Given the description of an element on the screen output the (x, y) to click on. 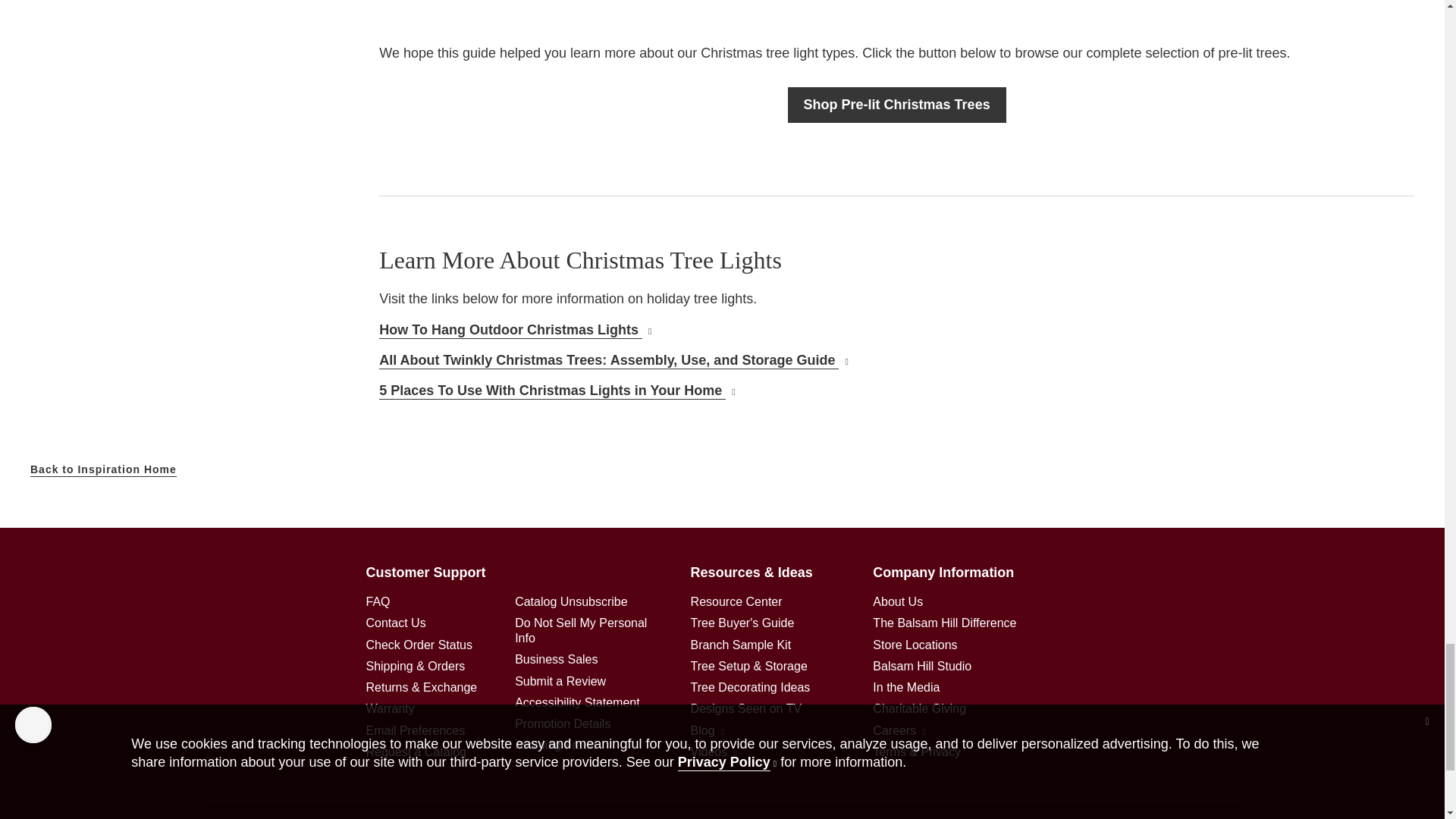
Shop Pre-lit Christmas Trees (896, 104)
Back to Inspiration Home (103, 469)
How To Hang Outdoor Christmas Lights (514, 330)
Contact Us (395, 622)
5 Places To Use With Christmas Lights in Your Home (556, 391)
Check Order Status (418, 645)
FAQ (377, 601)
